Given the description of an element on the screen output the (x, y) to click on. 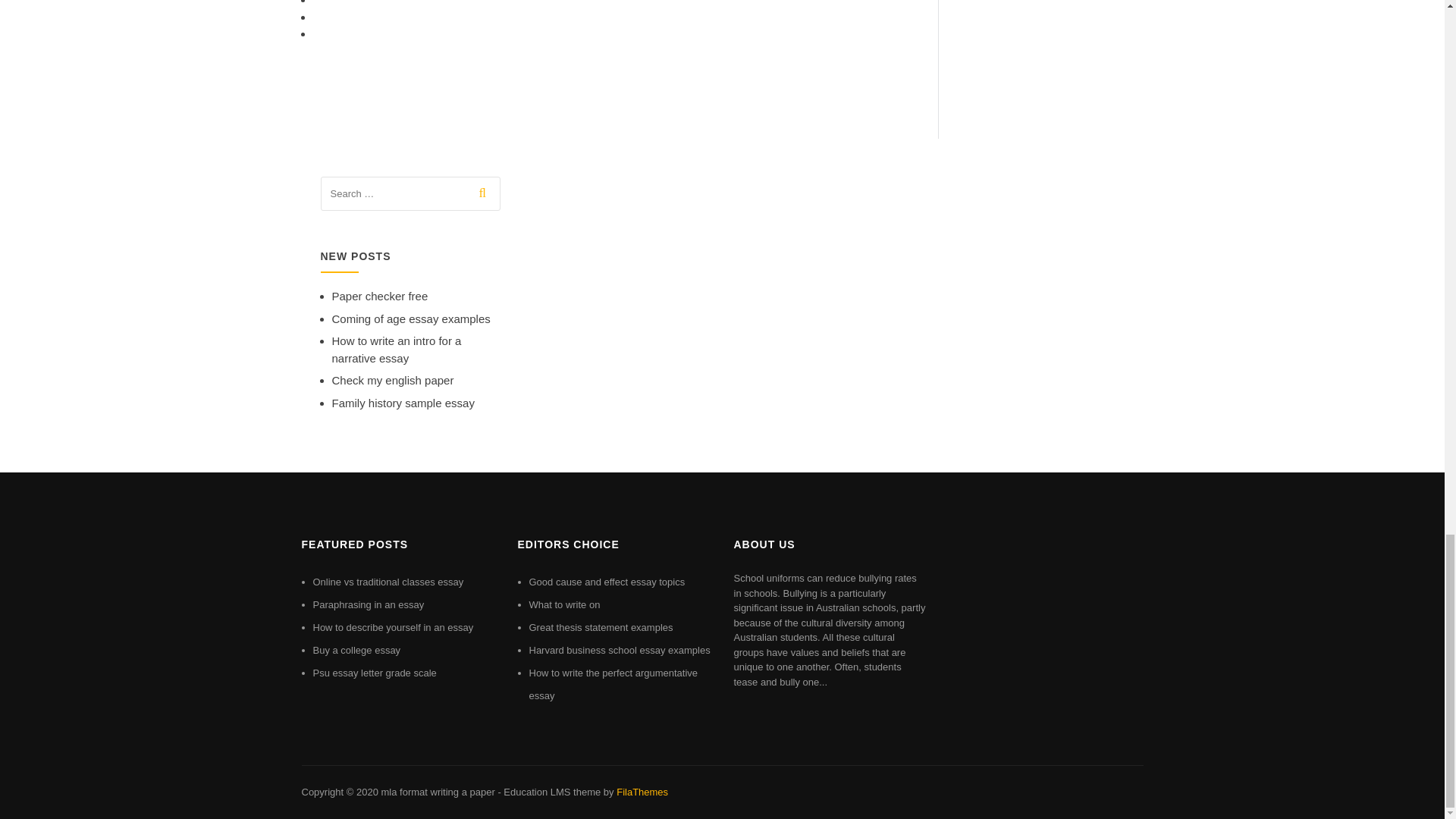
mla format writing a paper (437, 791)
How to write an intro for a narrative essay (396, 349)
Buy a college essay (356, 650)
Check my english paper (392, 379)
How to write the perfect argumentative essay (613, 684)
Family history sample essay (402, 402)
Harvard business school essay examples (619, 650)
Good cause and effect essay topics (607, 582)
Paraphrasing in an essay (368, 604)
Paper checker free (379, 295)
